Given the description of an element on the screen output the (x, y) to click on. 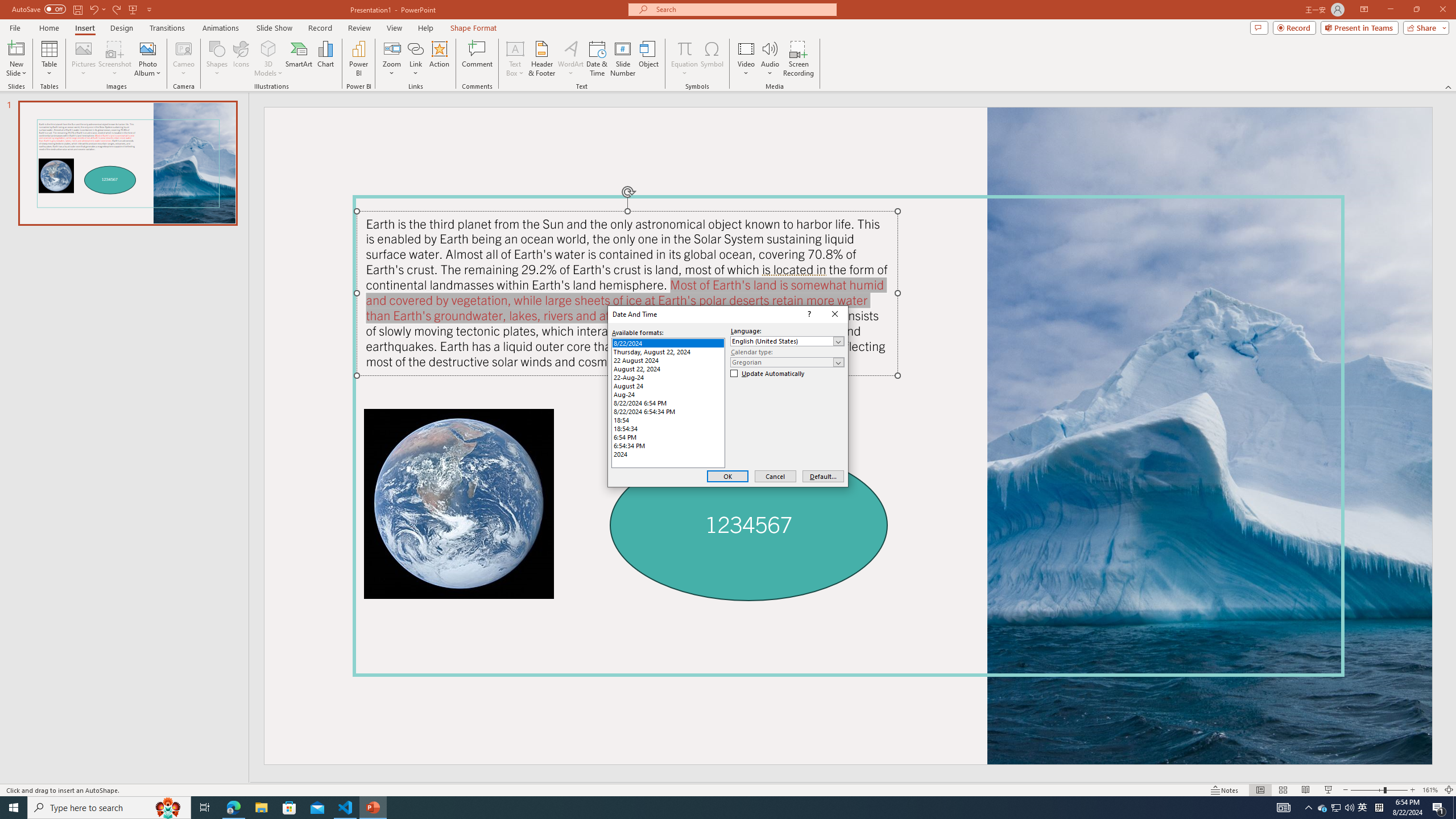
Calendar type (787, 362)
6:54 PM (667, 436)
18:54:34 (667, 428)
Draw Horizontal Text Box (515, 48)
8/22/2024 6:54:34 PM (667, 411)
